Given the description of an element on the screen output the (x, y) to click on. 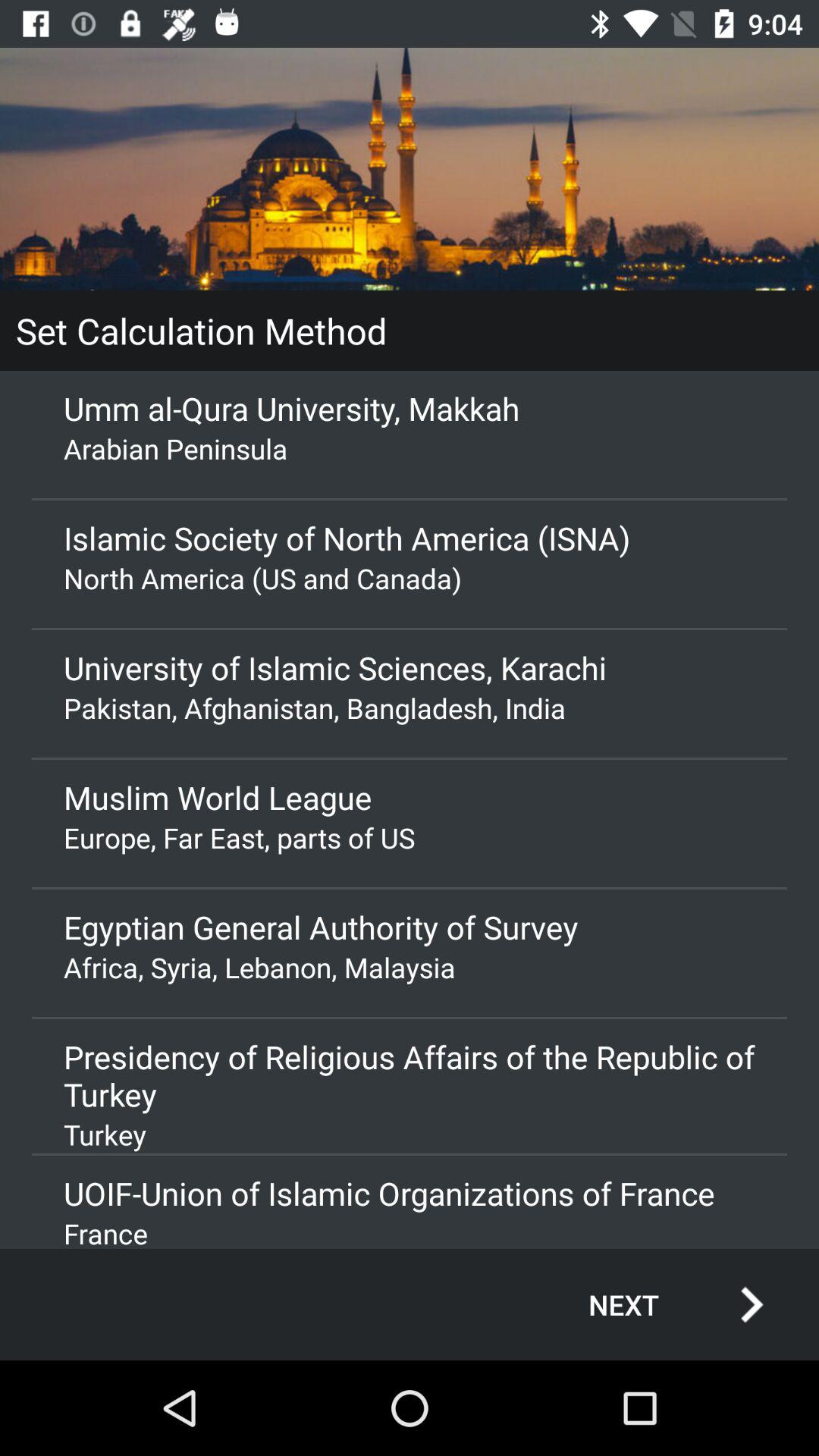
jump until the arabian peninsula item (409, 448)
